Given the description of an element on the screen output the (x, y) to click on. 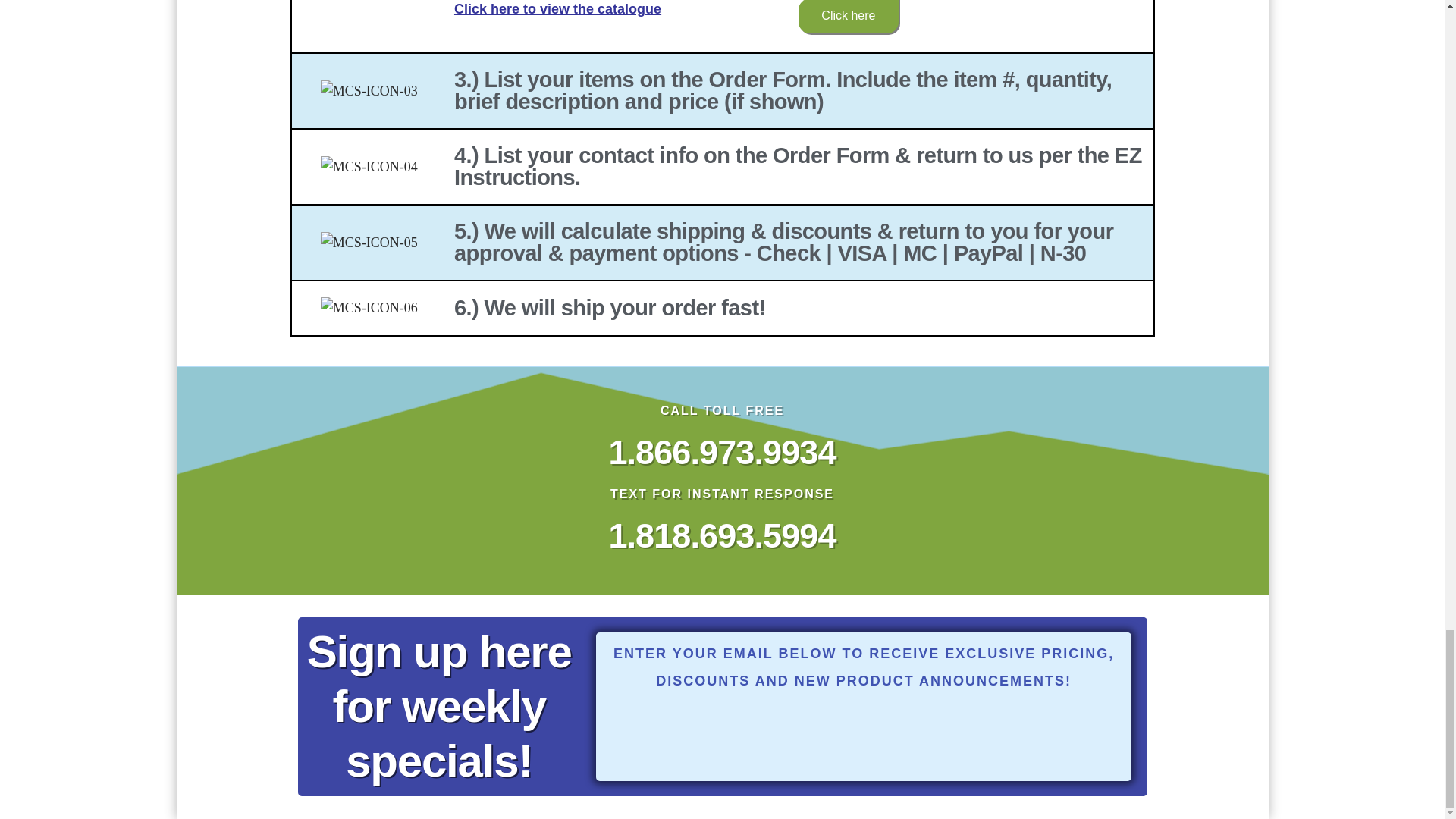
MCS-ICON-03 (368, 91)
MCS-ICON-06 (368, 308)
Click here to view the catalogue (557, 8)
MCS-ICON-05 (368, 242)
MCS-ICON-04 (368, 167)
